Given the description of an element on the screen output the (x, y) to click on. 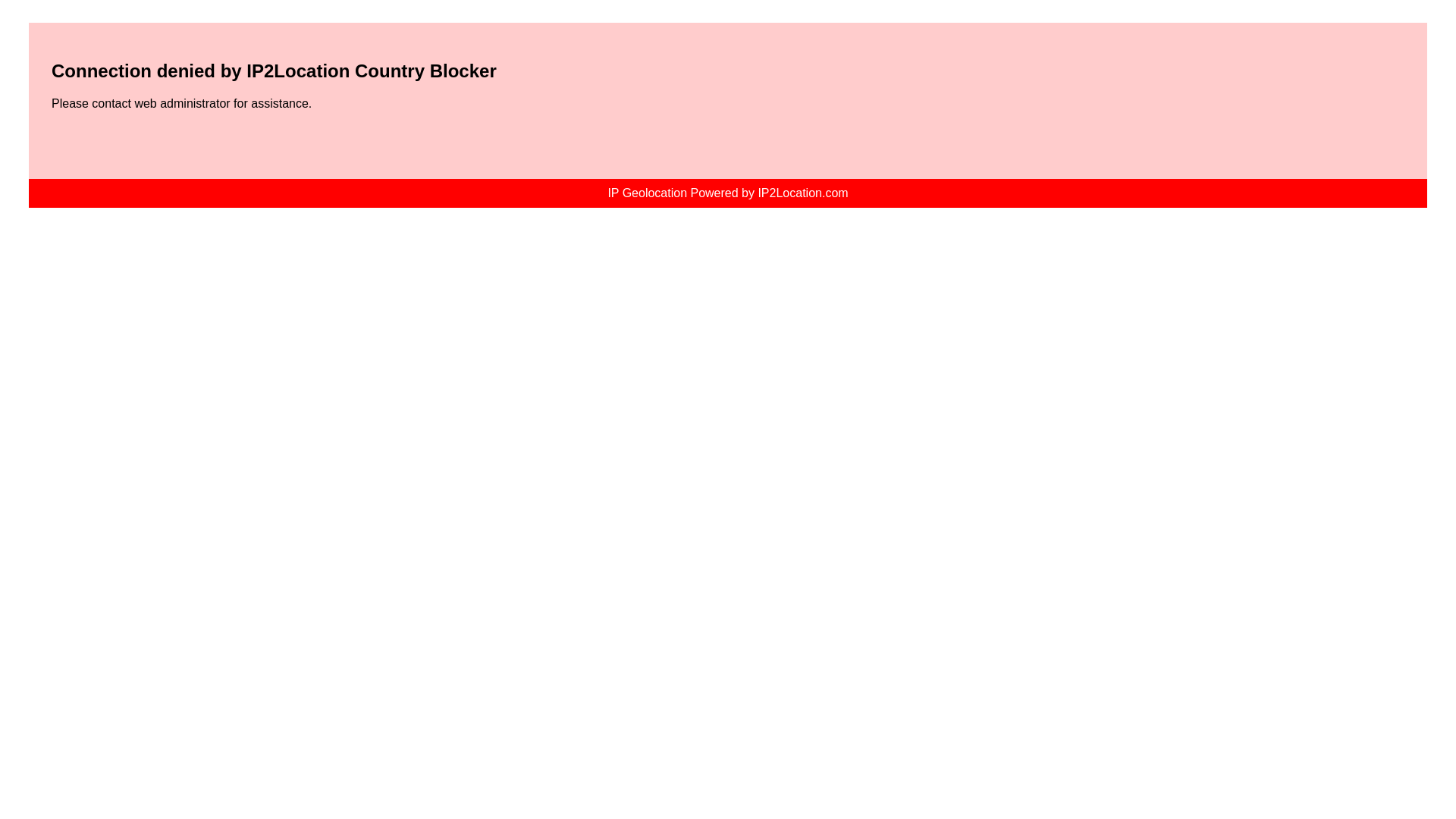
IP Geolocation Powered by IP2Location.com (727, 192)
